Given the description of an element on the screen output the (x, y) to click on. 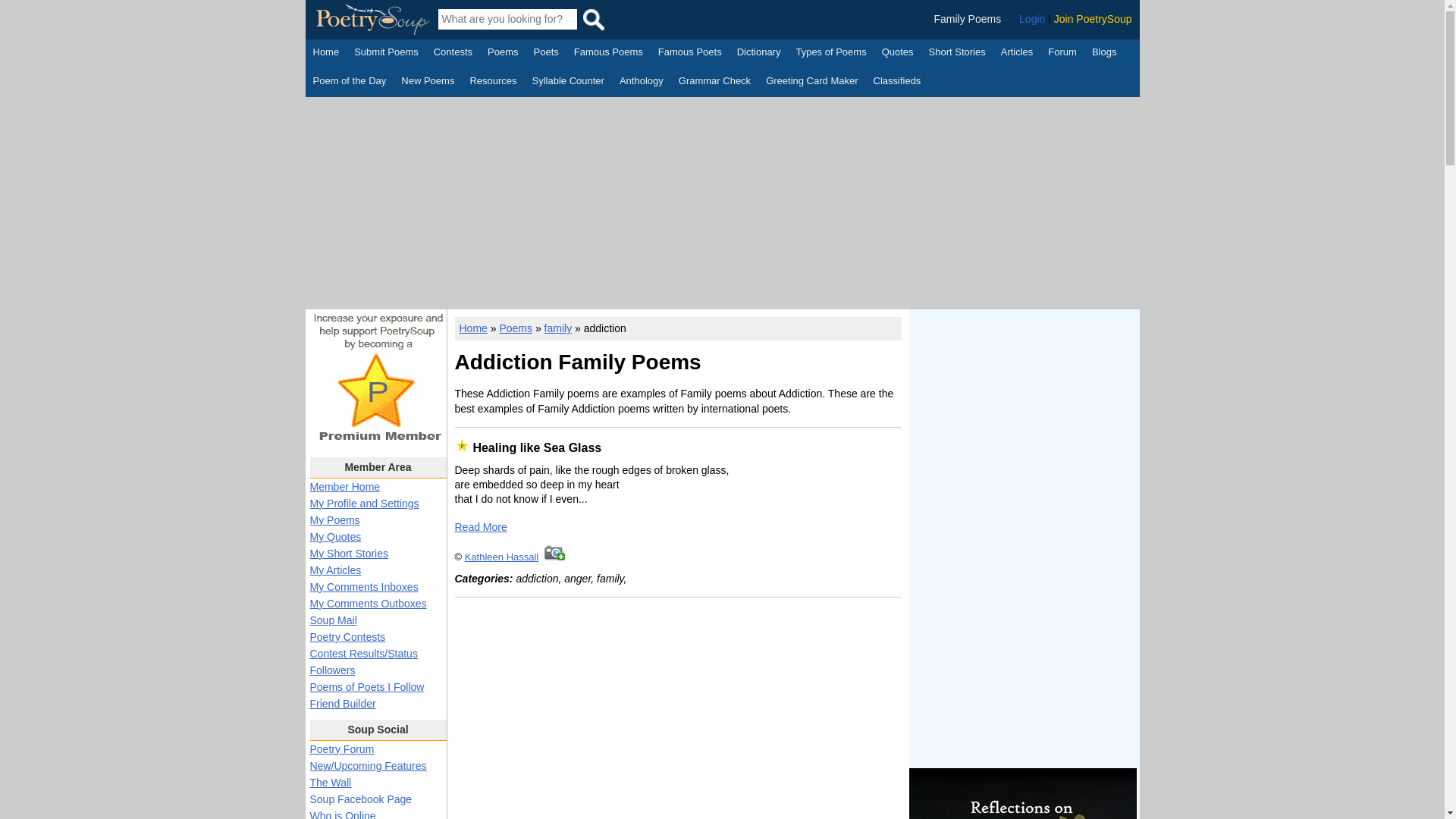
Poets (546, 53)
Famous Poems (608, 53)
Poems (502, 53)
Poets (546, 53)
Submit Poems (386, 53)
Dictionary (758, 53)
Member Home (344, 486)
Join PoetrySoup (1093, 19)
Poems (502, 53)
Login (1032, 19)
Home (326, 53)
Famous Poets (690, 53)
Syllable Counter (568, 82)
Grammar Check (714, 82)
Contests (452, 53)
